Given the description of an element on the screen output the (x, y) to click on. 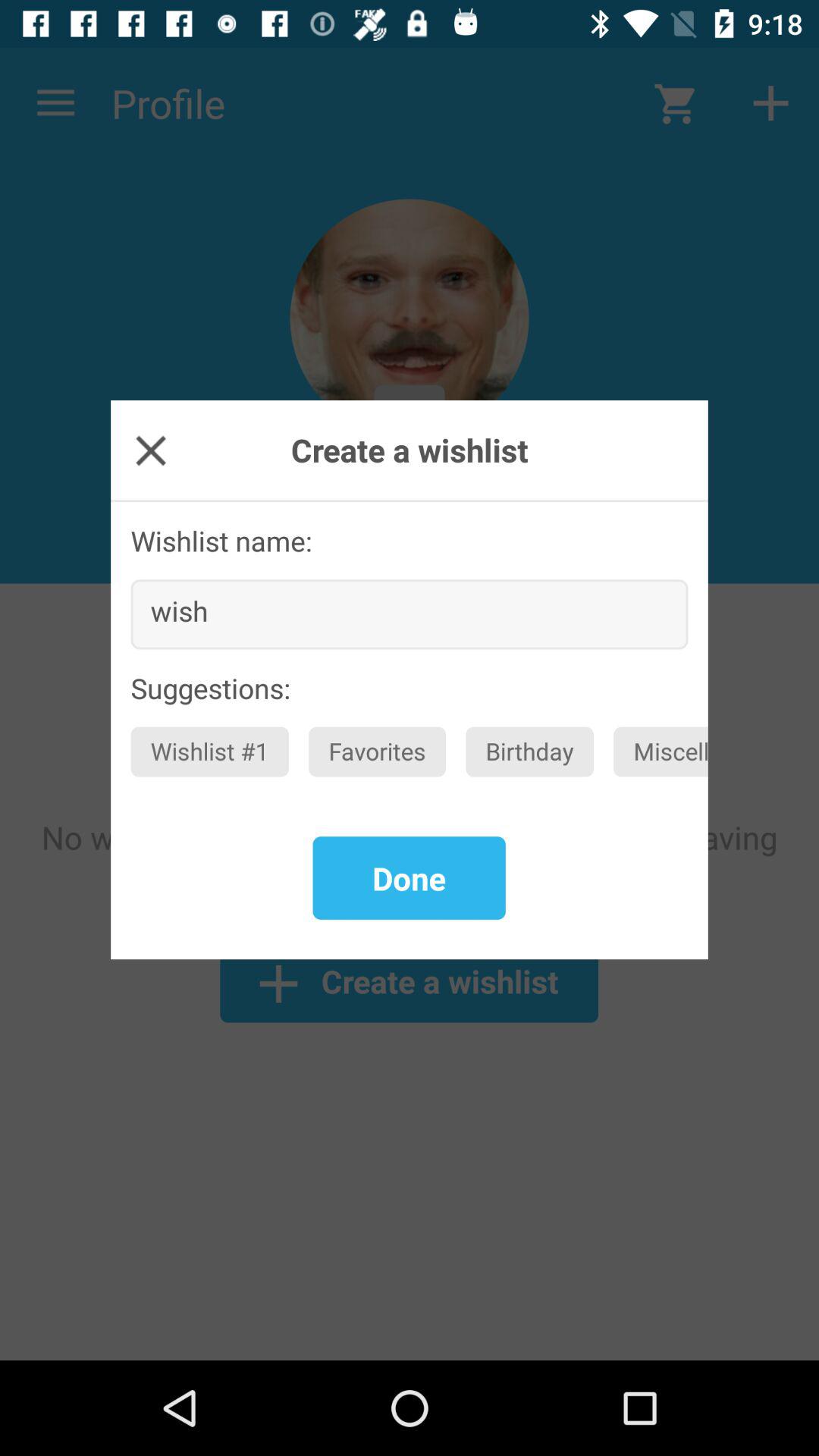
close window (150, 450)
